Given the description of an element on the screen output the (x, y) to click on. 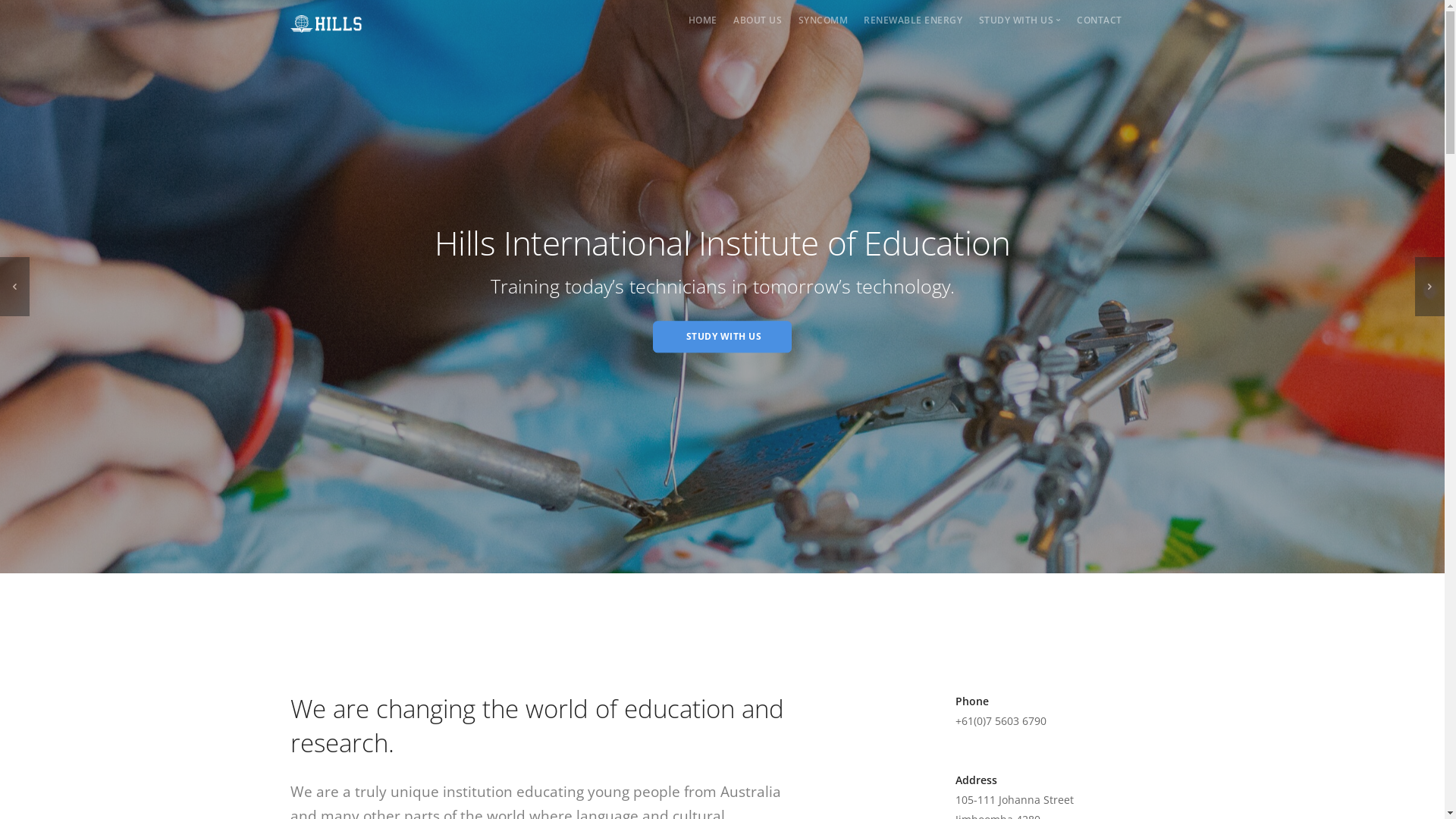
HOME Element type: text (702, 19)
RENEWABLE ENERGY Element type: text (912, 19)
SYNCOMM Element type: text (823, 19)
 STUDY WITH US Element type: text (721, 336)
CONTACT Element type: text (1099, 19)
ABOUT US Element type: text (757, 19)
